Given the description of an element on the screen output the (x, y) to click on. 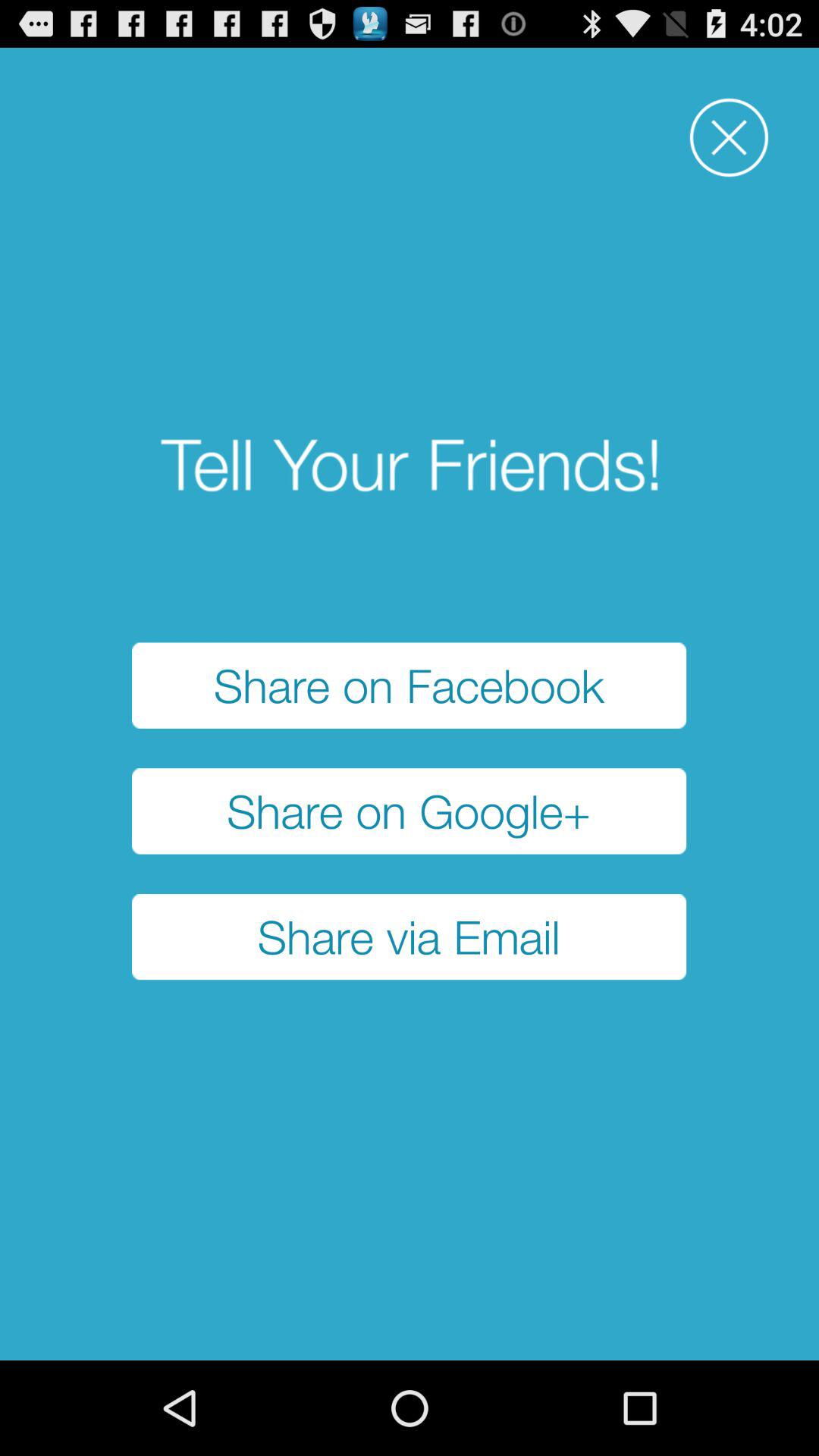
press the item at the top right corner (728, 137)
